Given the description of an element on the screen output the (x, y) to click on. 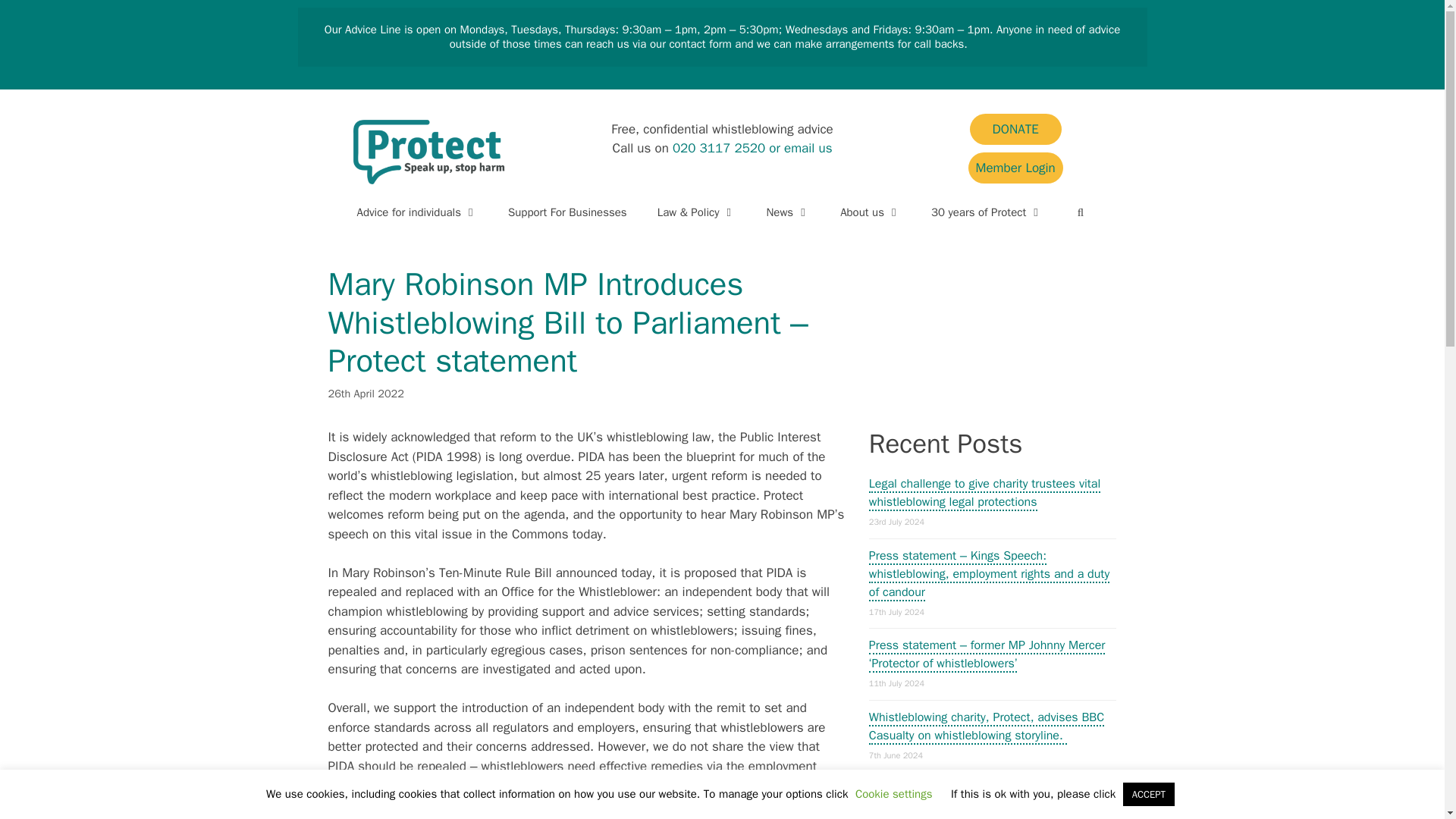
DONATE (1015, 128)
our contact form (690, 43)
Advice for individuals (416, 212)
email us (807, 148)
Member Login (1015, 166)
